Given the description of an element on the screen output the (x, y) to click on. 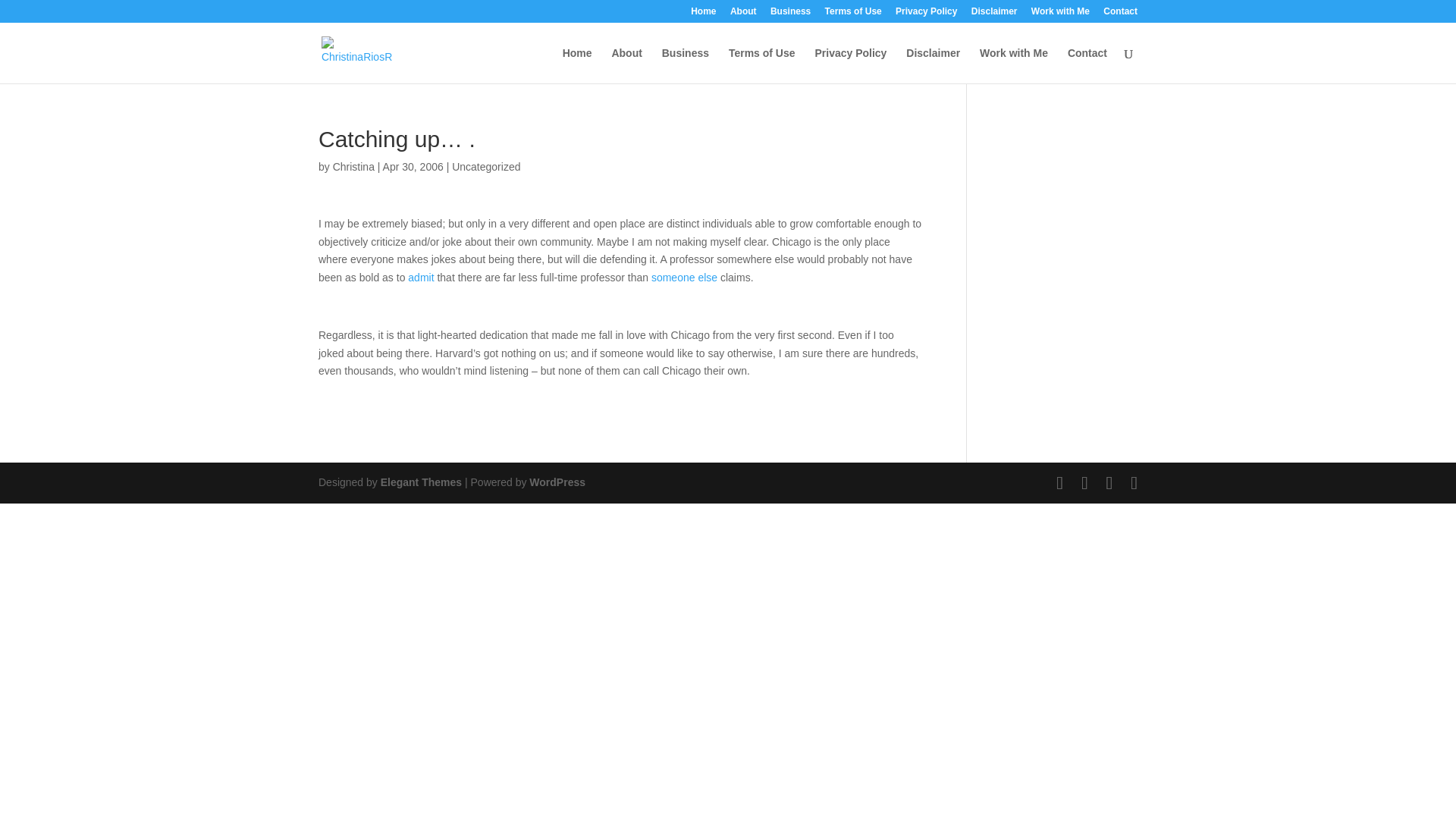
Posts by Christina (353, 166)
Terms of Use (853, 14)
Home (703, 14)
Premium WordPress Themes (420, 481)
Christina (353, 166)
Contact (1120, 14)
admit (420, 277)
Terms of Use (761, 65)
Business (790, 14)
someone else (683, 277)
Elegant Themes (420, 481)
Privacy Policy (925, 14)
About (743, 14)
Business (685, 65)
Contact (1086, 65)
